Given the description of an element on the screen output the (x, y) to click on. 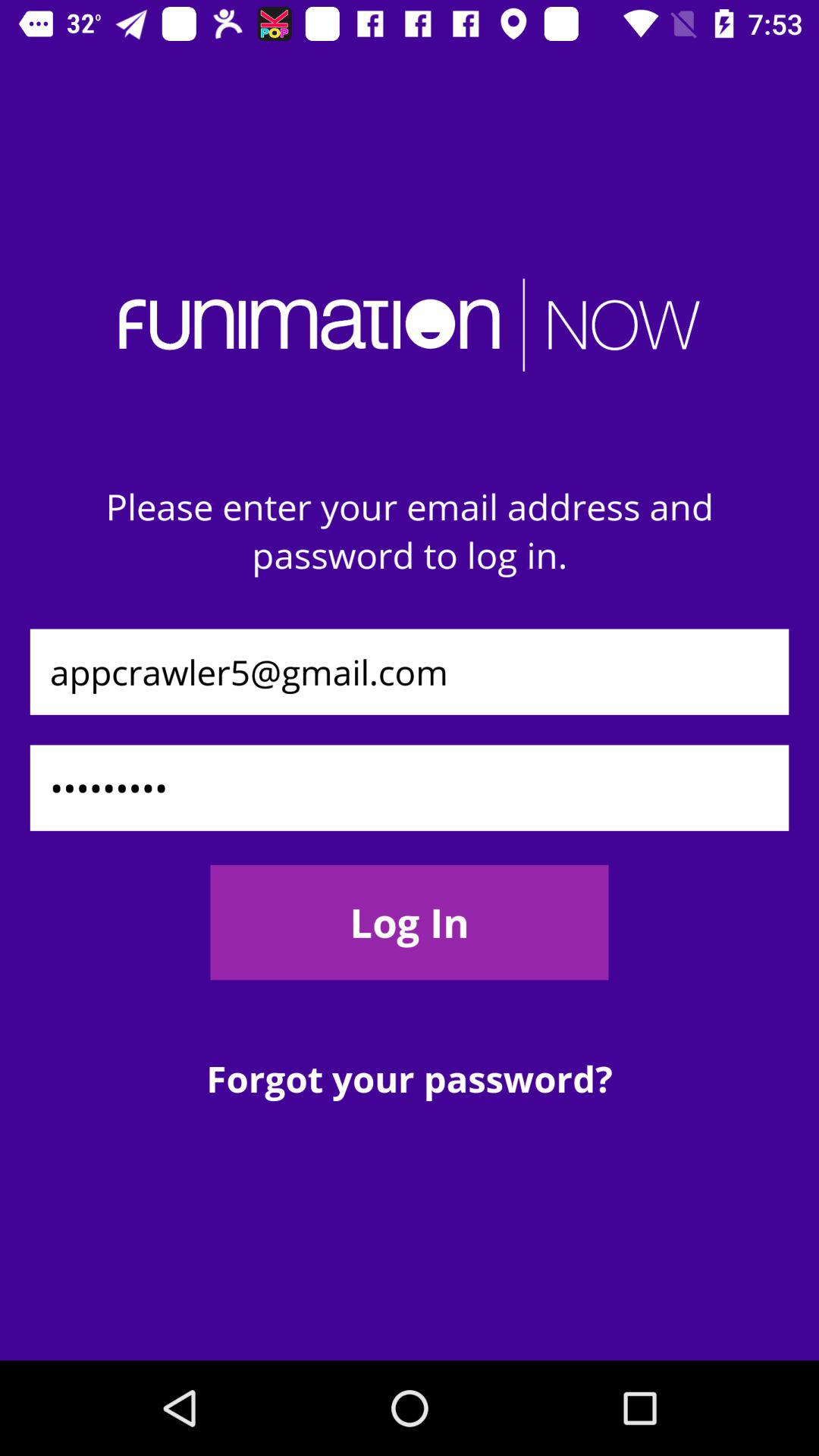
tap the icon above the log in (409, 787)
